Given the description of an element on the screen output the (x, y) to click on. 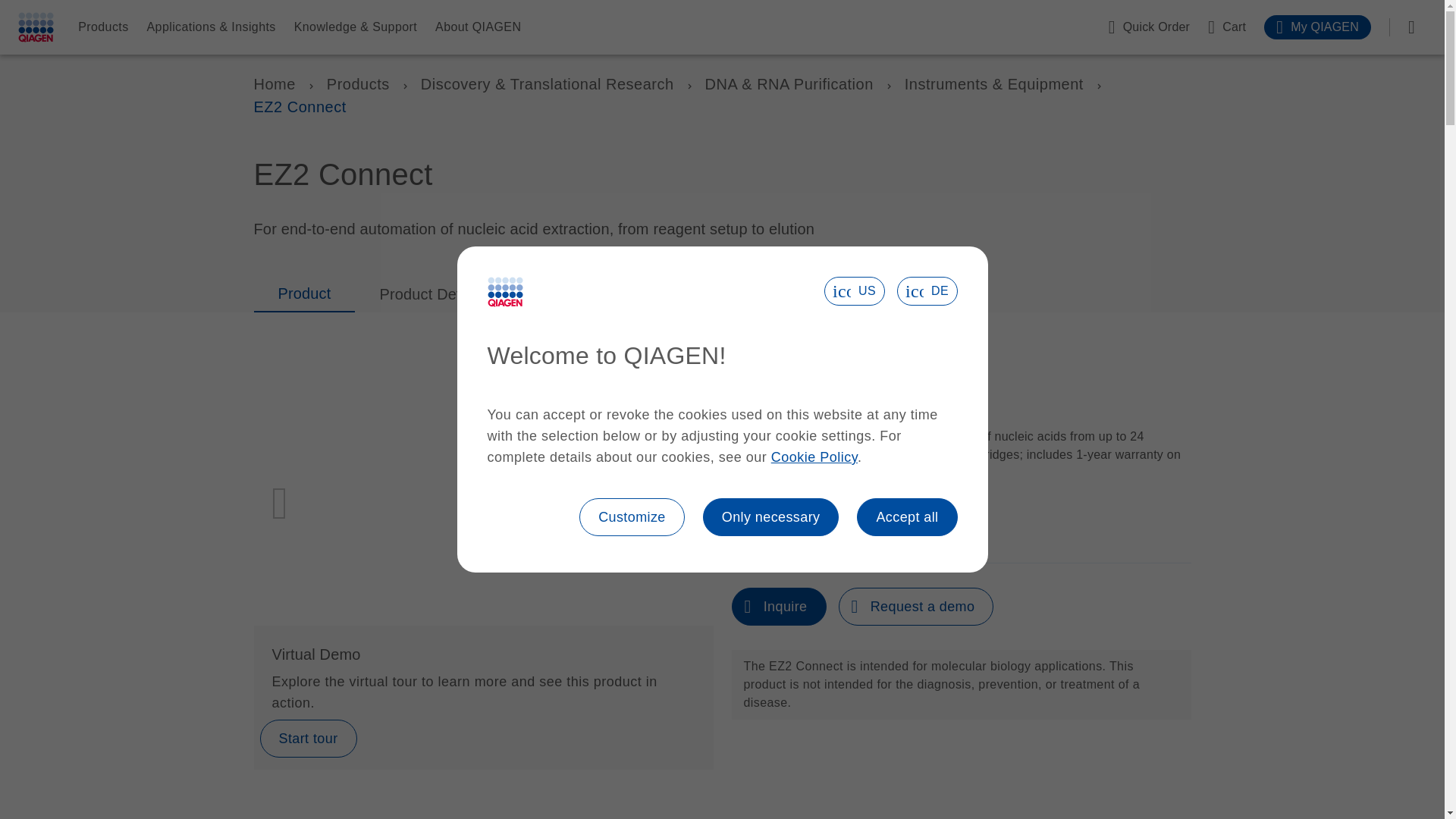
Copy order details (795, 510)
My QIAGEN (1317, 27)
Home (274, 83)
Customize (631, 516)
Image in frame (483, 495)
Only necessary (771, 516)
Quick Order (1148, 27)
Accept all (906, 516)
Products (358, 83)
Cart (1227, 27)
